Given the description of an element on the screen output the (x, y) to click on. 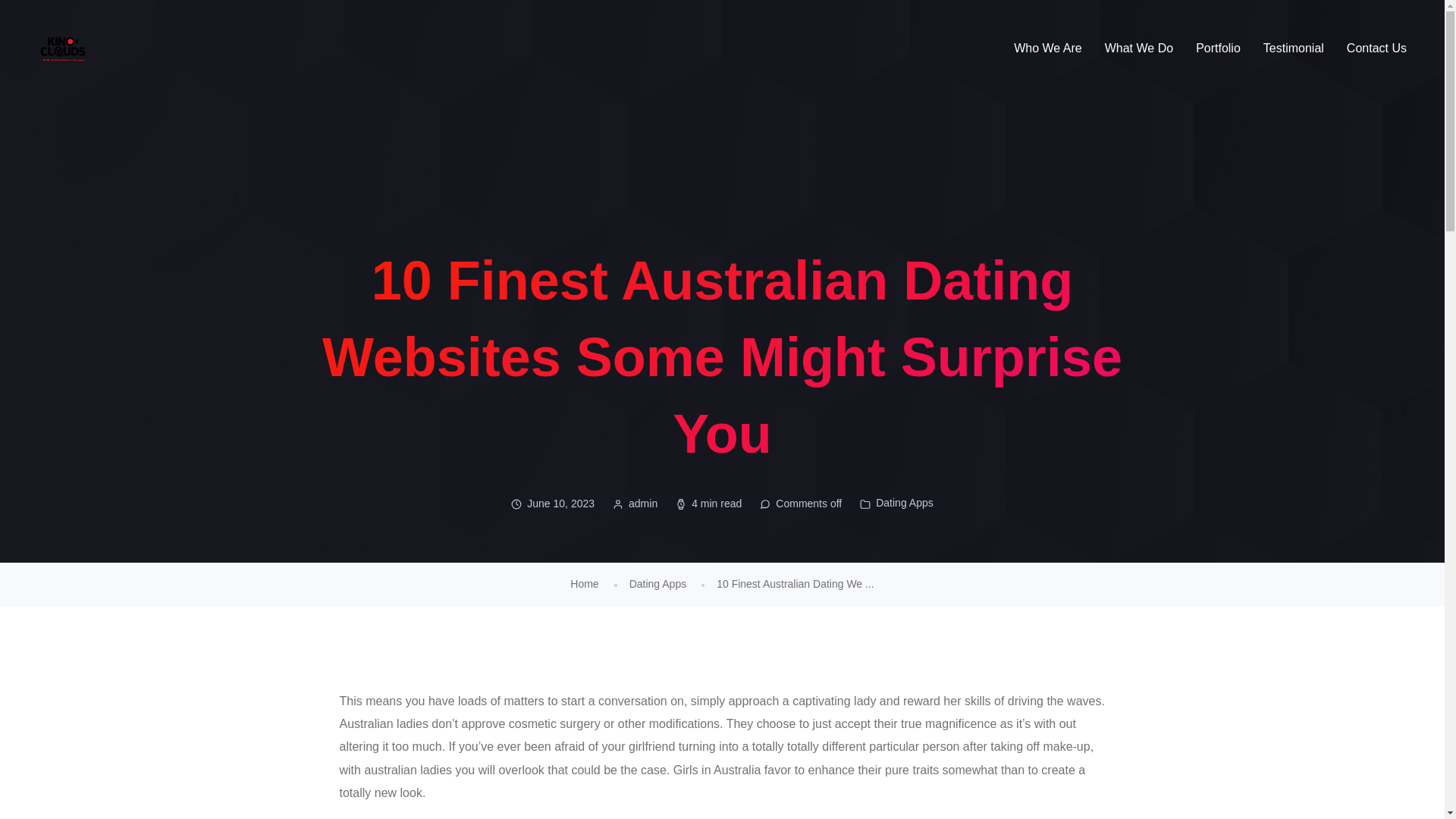
Kino Clouds (62, 48)
Home (584, 583)
Contact Us (1376, 48)
Home (584, 583)
What We Do (1139, 48)
Dating Apps (904, 502)
Testimonial (1293, 48)
Who We Are (1047, 48)
10 Finest Australian Dating Websites Some Might Surprise You (795, 583)
Dating Apps (657, 583)
